Given the description of an element on the screen output the (x, y) to click on. 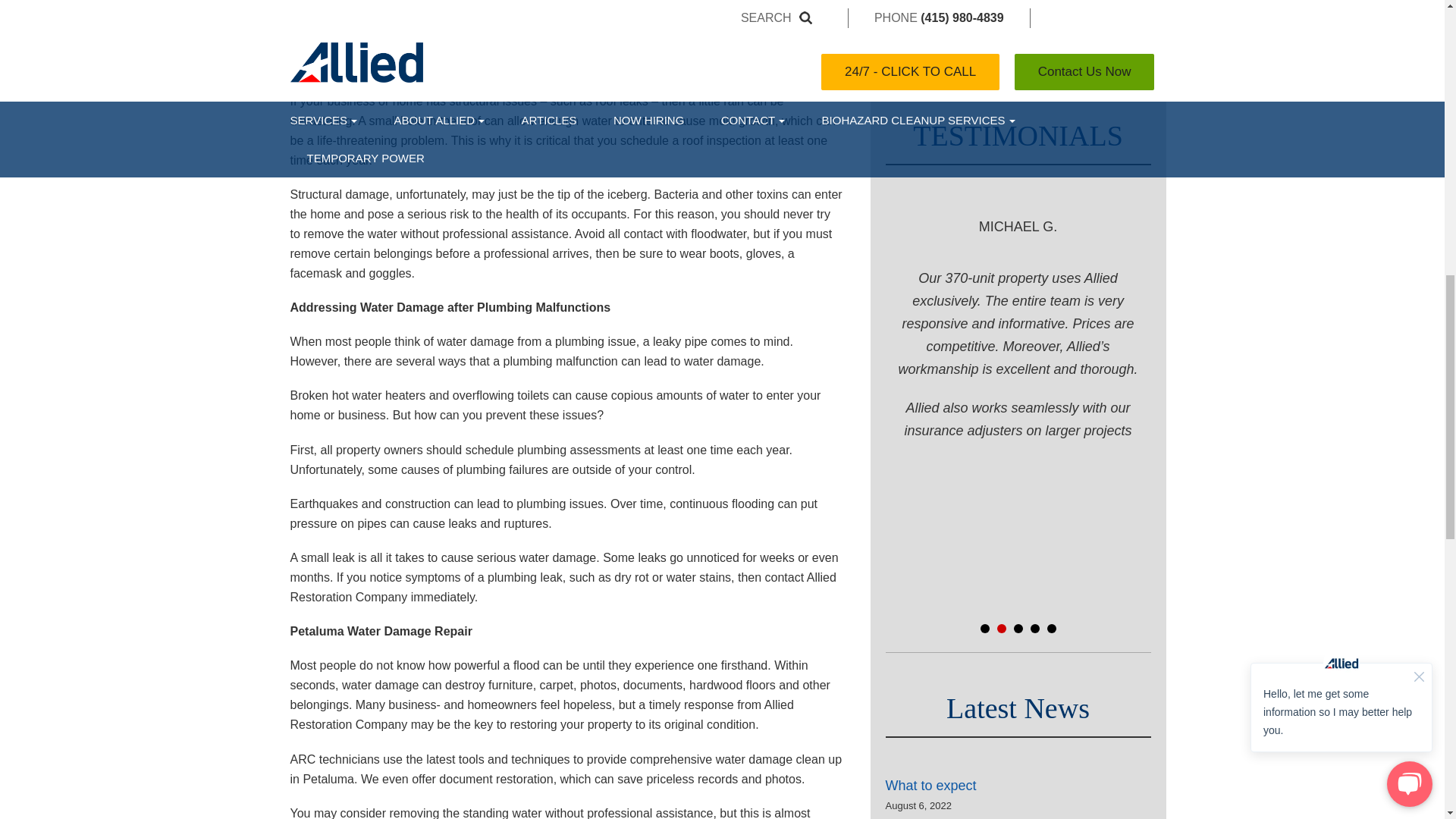
Send (1018, 15)
